Given the description of an element on the screen output the (x, y) to click on. 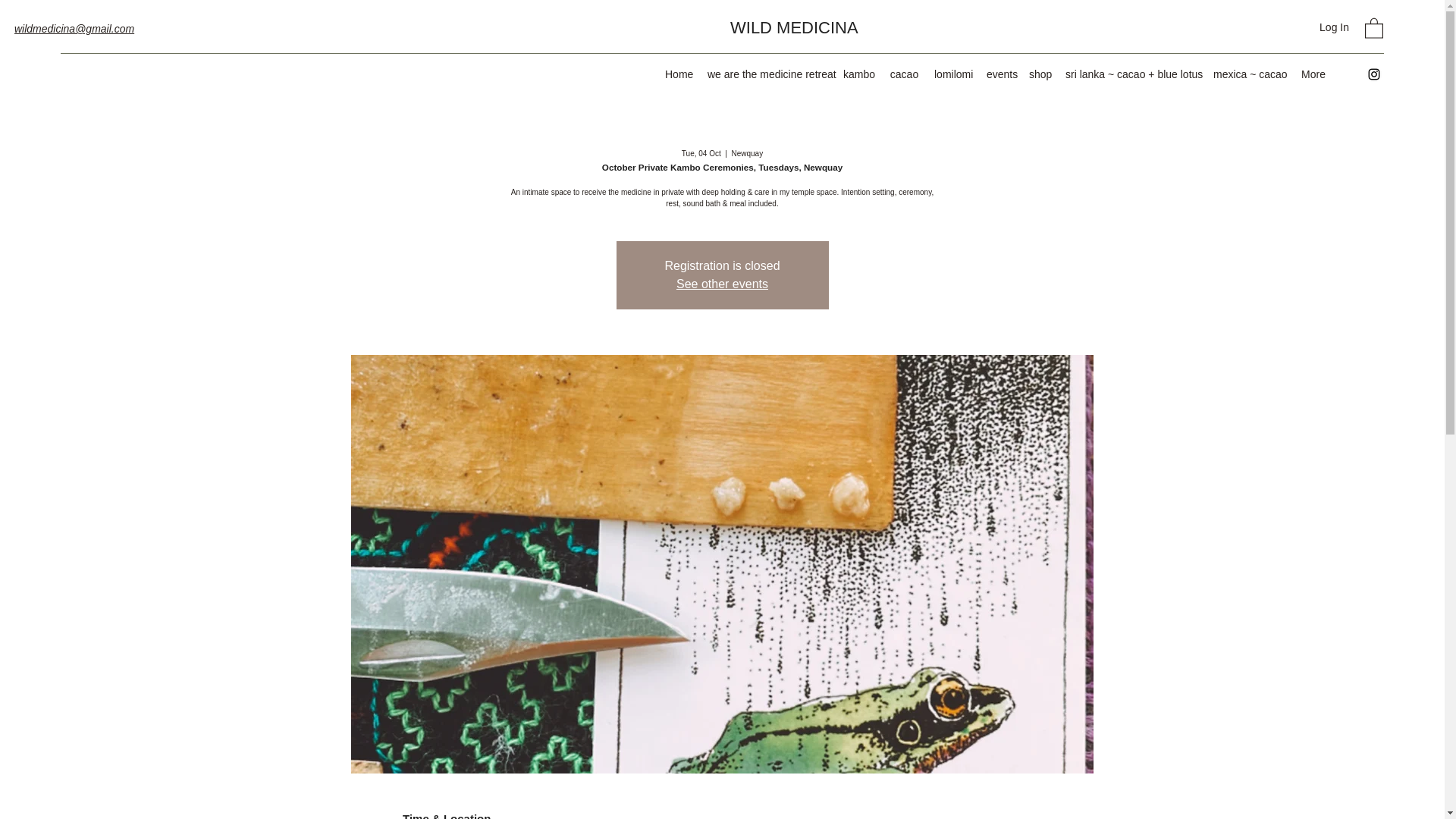
Home (679, 74)
lomilomi (952, 74)
See other events (722, 283)
WILD MEDICINA (794, 27)
we are the medicine retreat (767, 74)
cacao (904, 74)
shop (1040, 74)
events (1000, 74)
Log In (1333, 27)
kambo (858, 74)
